Given the description of an element on the screen output the (x, y) to click on. 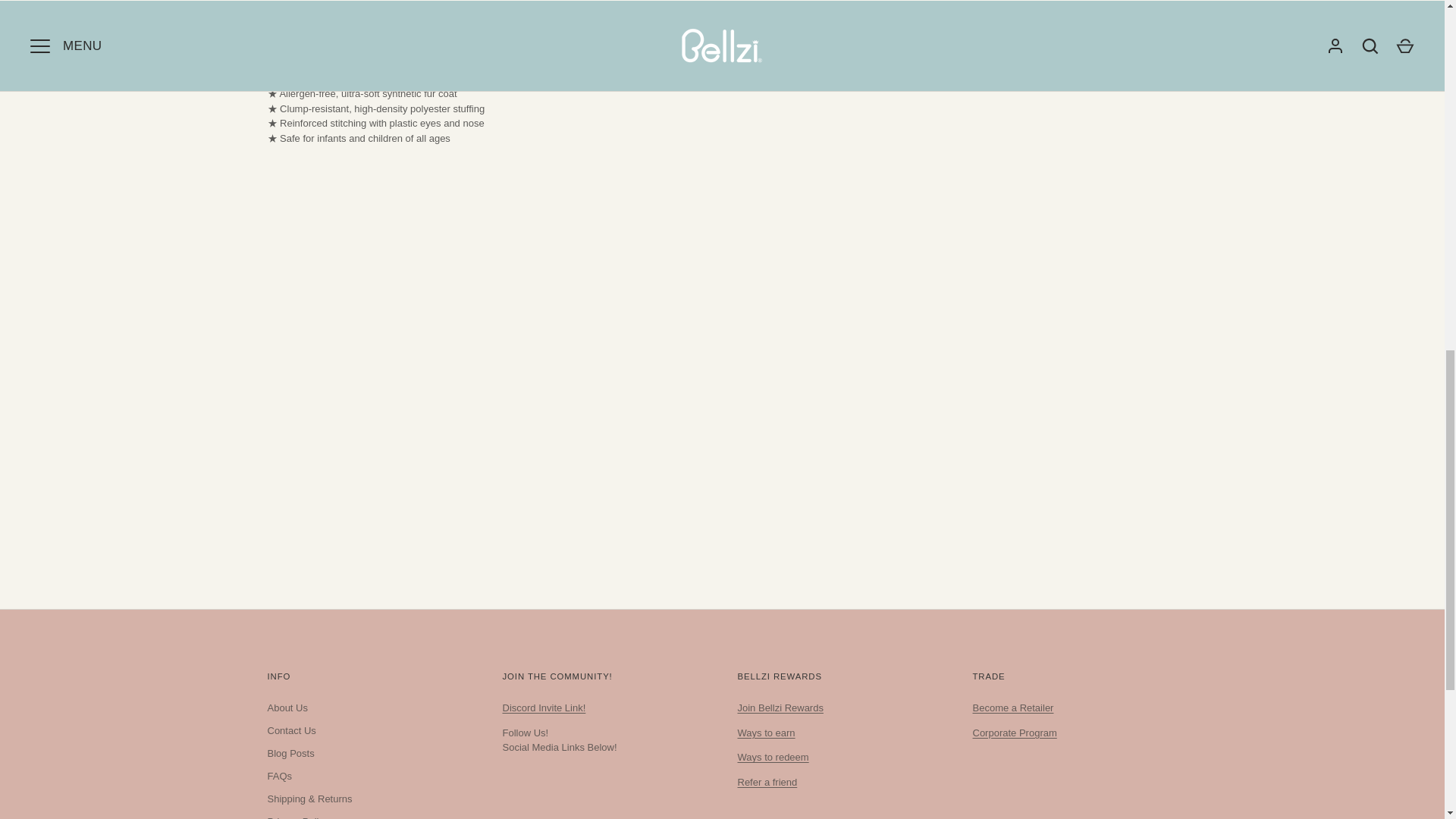
Join the Bellzi Community on DISCORD (543, 707)
Ways to redeem Bellzi rewards (772, 756)
Become a Retailer (1012, 707)
Corporate Discount Program (1014, 732)
Refer a friend (766, 781)
Ways to earn Bellzi rewards (765, 732)
